Given the description of an element on the screen output the (x, y) to click on. 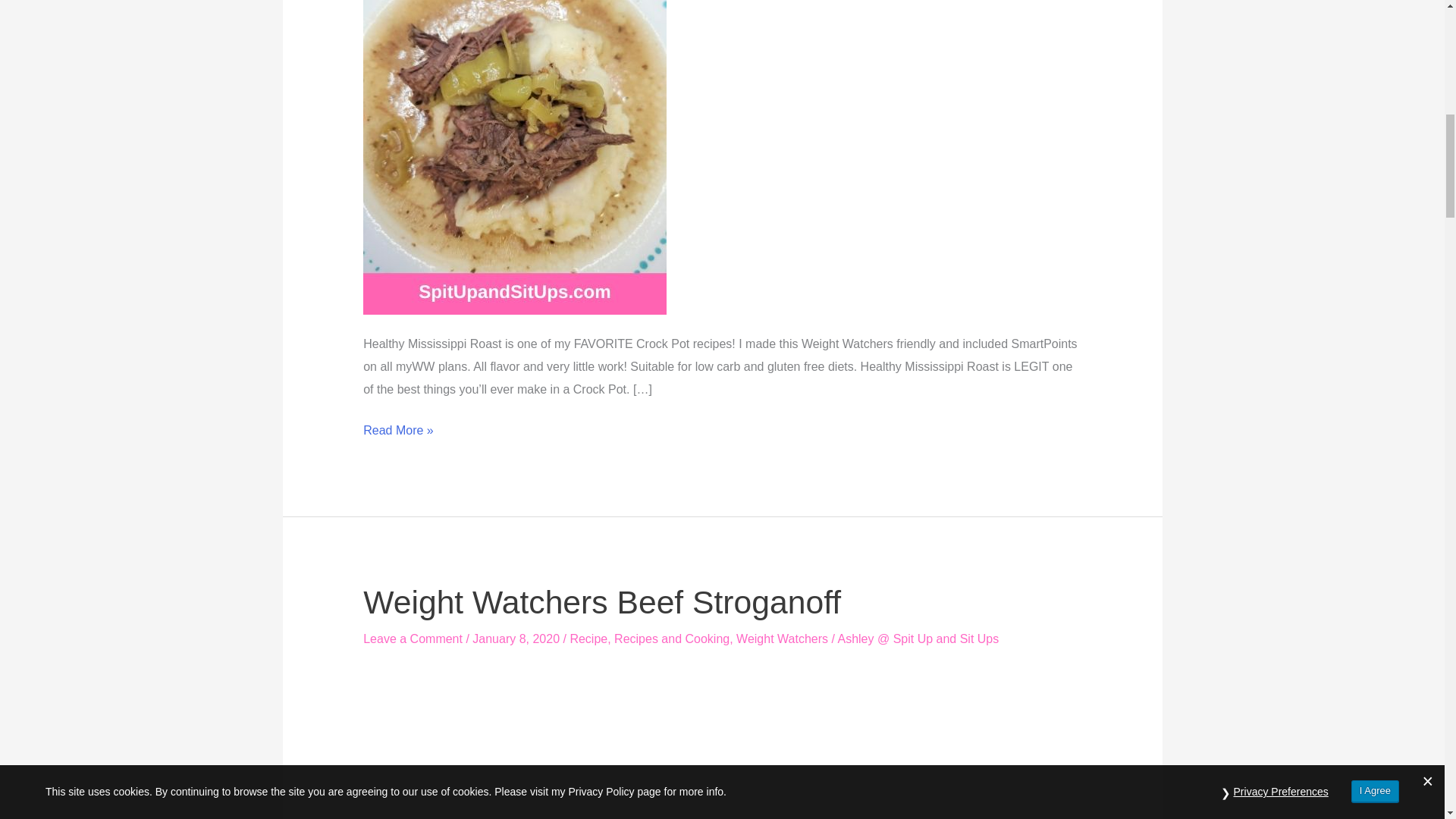
Weight Watchers Beef Stroganoff (601, 601)
Recipe (588, 638)
Weight Watchers (782, 638)
Recipes and Cooking (671, 638)
Leave a Comment (412, 638)
